Given the description of an element on the screen output the (x, y) to click on. 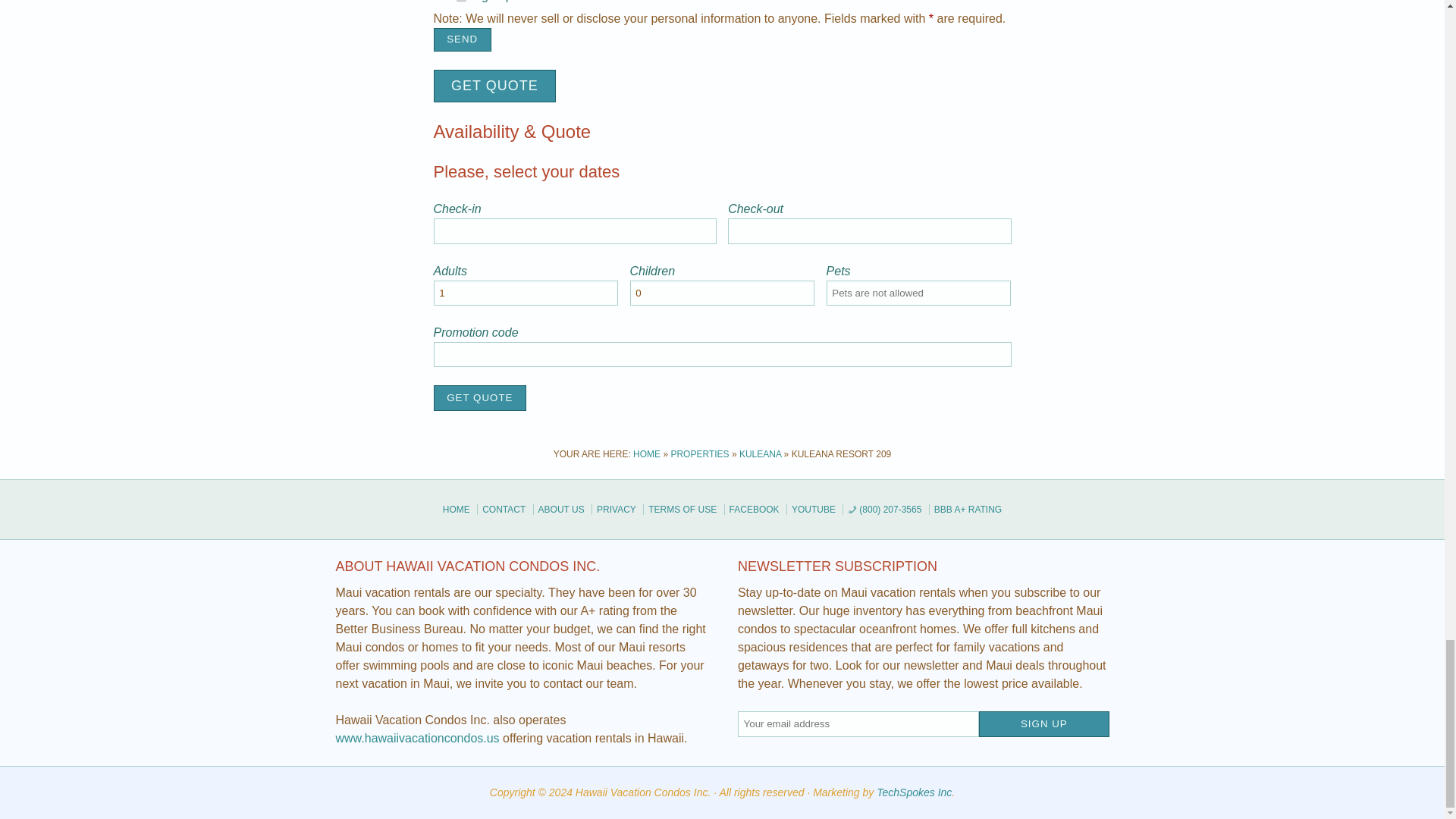
Get Quote (480, 397)
Unique web and marketing solutions for your vacation rentals (914, 792)
0 (722, 292)
1 (525, 292)
1 (461, 4)
Get quote (494, 85)
